Given the description of an element on the screen output the (x, y) to click on. 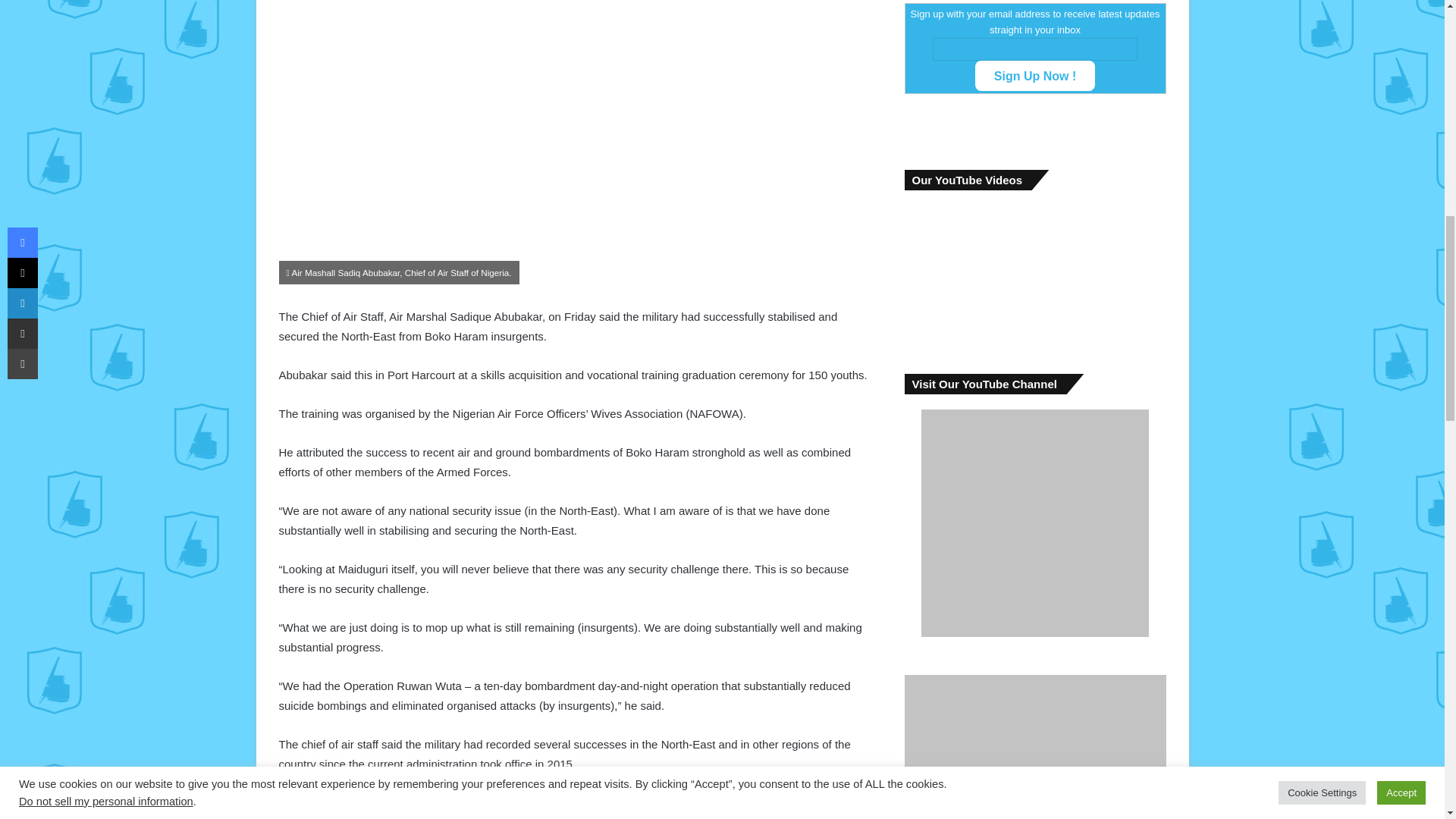
Sign Up Now ! (1034, 75)
